Given the description of an element on the screen output the (x, y) to click on. 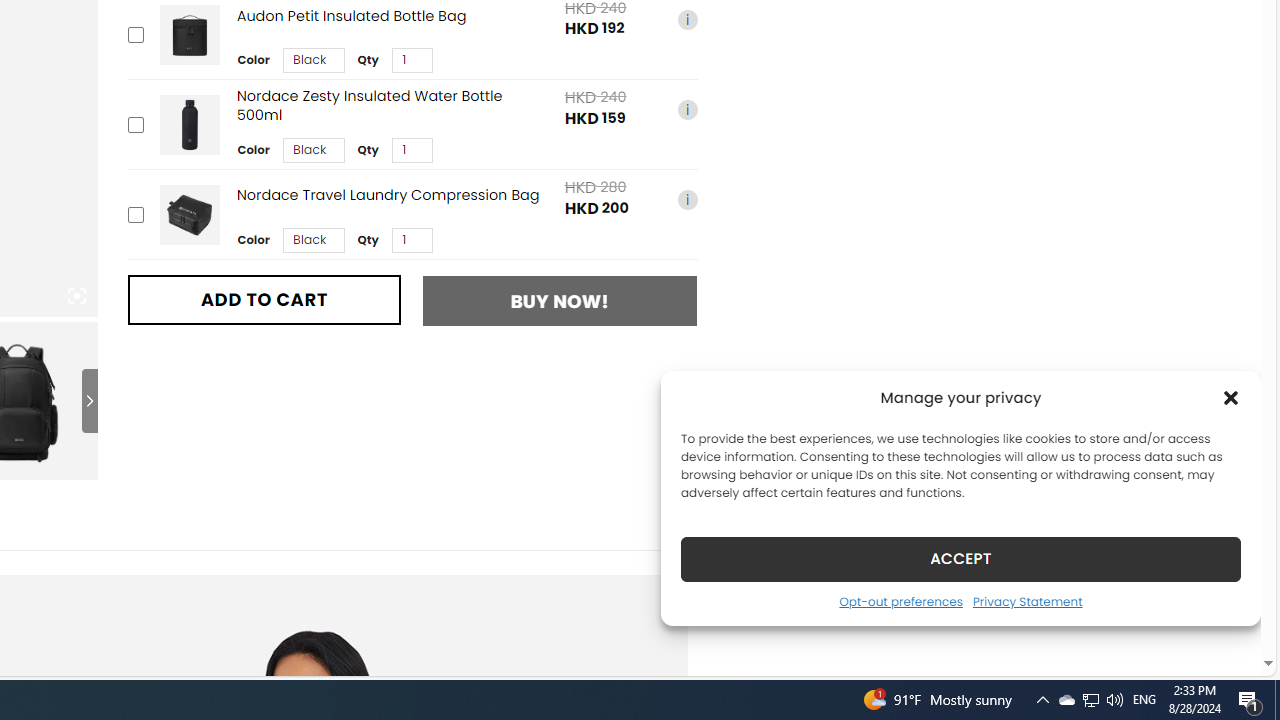
Privacy Statement (1026, 601)
i (687, 199)
Class: upsell-v2-product-upsell-variable-product-qty-select (411, 239)
Class: cmplz-close (1231, 397)
ADD TO CART (263, 299)
Class: iconic-woothumbs-fullscreen (75, 296)
Nordace Zesty Insulated Water Bottle 500ml (189, 124)
Audon Petit Insulated Bottle Bag (189, 35)
Opt-out preferences (900, 601)
BUY NOW! (559, 300)
ACCEPT (960, 558)
Add this product to cart (134, 214)
Nordace Travel Laundry Compression Bag (189, 214)
